Given the description of an element on the screen output the (x, y) to click on. 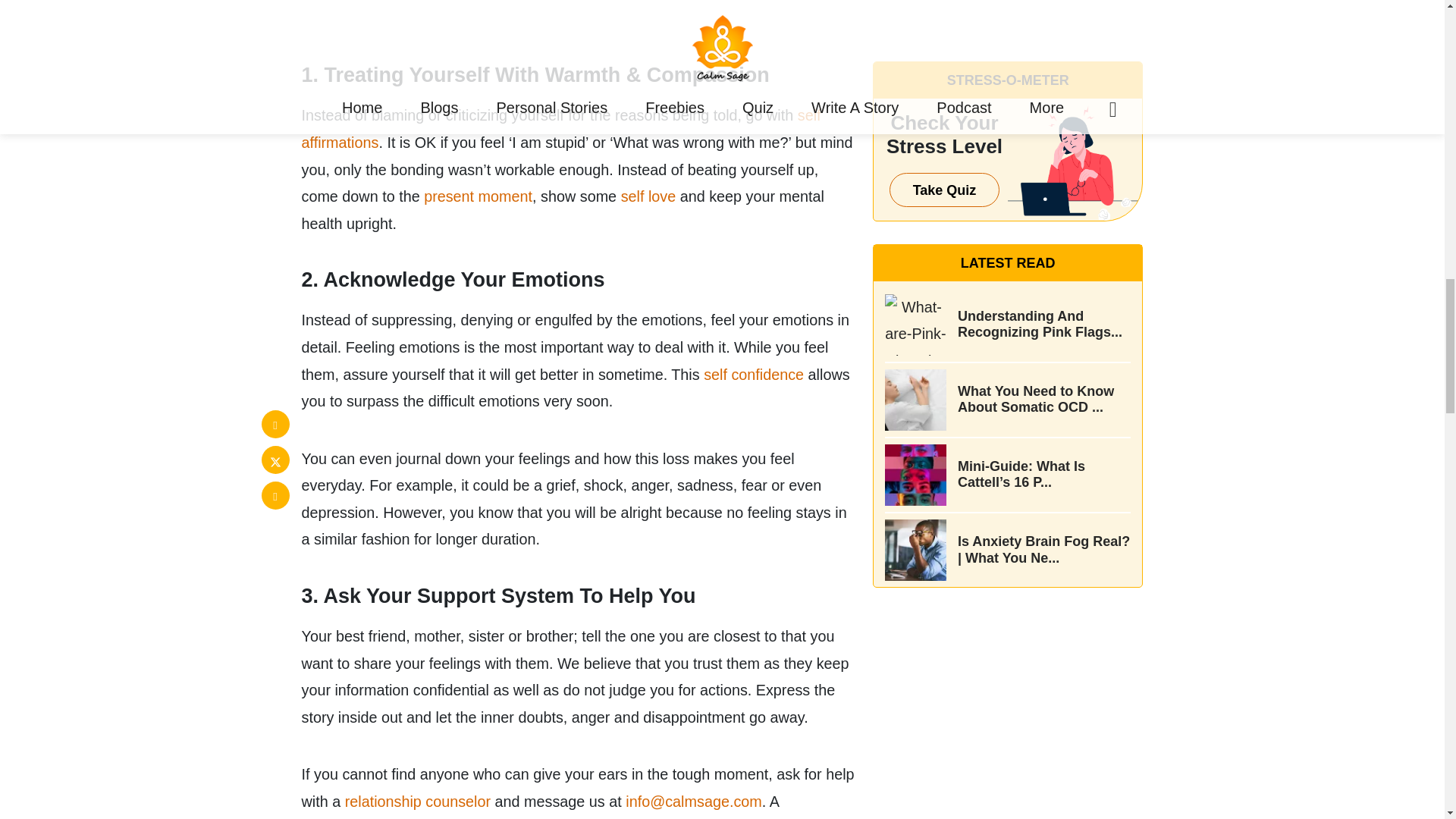
self confidence (753, 374)
self love (649, 196)
relationship counselor (417, 801)
present moment (477, 196)
self affirmations (561, 128)
